Given the description of an element on the screen output the (x, y) to click on. 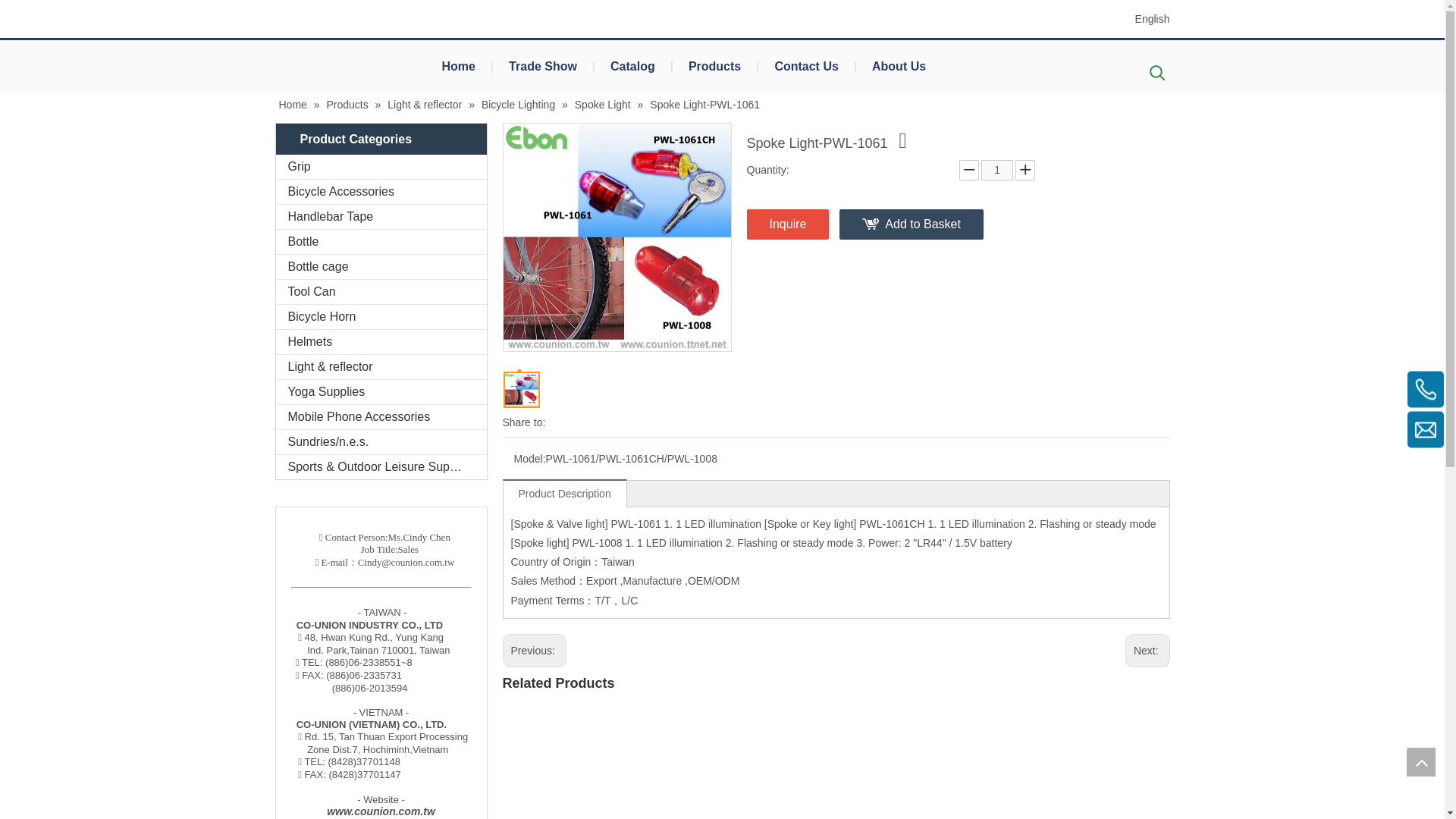
English (1152, 18)
Contact Us (805, 66)
Grip (381, 166)
Catalog (632, 66)
Home (294, 104)
Spoke Light (604, 104)
Grip (381, 166)
Trade Show (542, 66)
Bicycle Lighting (519, 104)
Bicycle Accessories (381, 191)
Products (348, 104)
Home (457, 66)
Products (713, 66)
1 (997, 169)
About Us (898, 66)
